Given the description of an element on the screen output the (x, y) to click on. 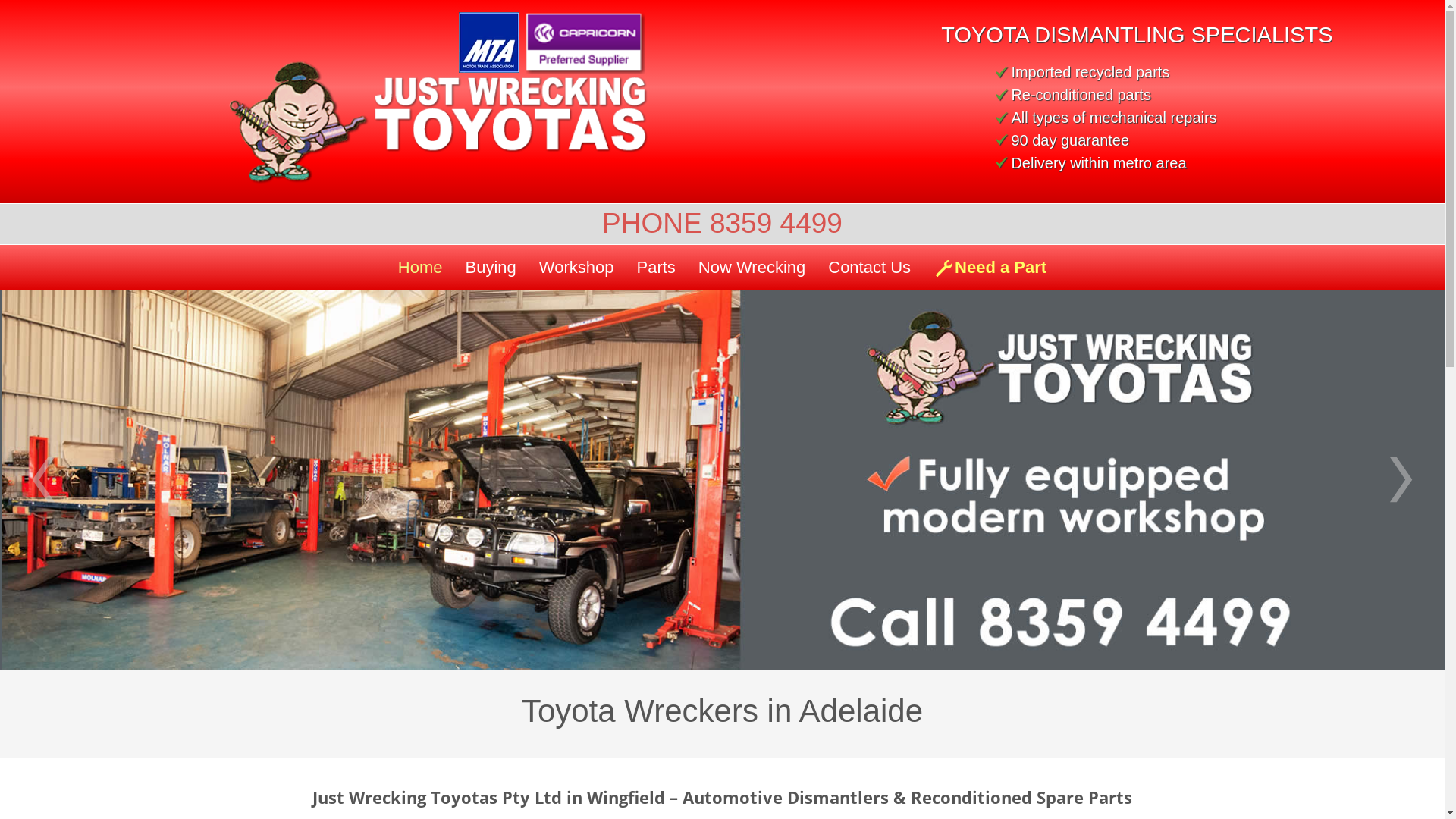
Need a Part Element type: text (989, 266)
Home Element type: text (420, 266)
Now Wrecking Element type: text (751, 266)
PHONE 8359 4499 Element type: text (722, 222)
Workshop Element type: text (576, 266)
Contact Us Element type: text (869, 266)
Buying Element type: text (490, 266)
Just Wrecking - TOYOTA WRECKING SPECIALISTS Element type: hover (425, 122)
Parts Element type: text (655, 266)
